Given the description of an element on the screen output the (x, y) to click on. 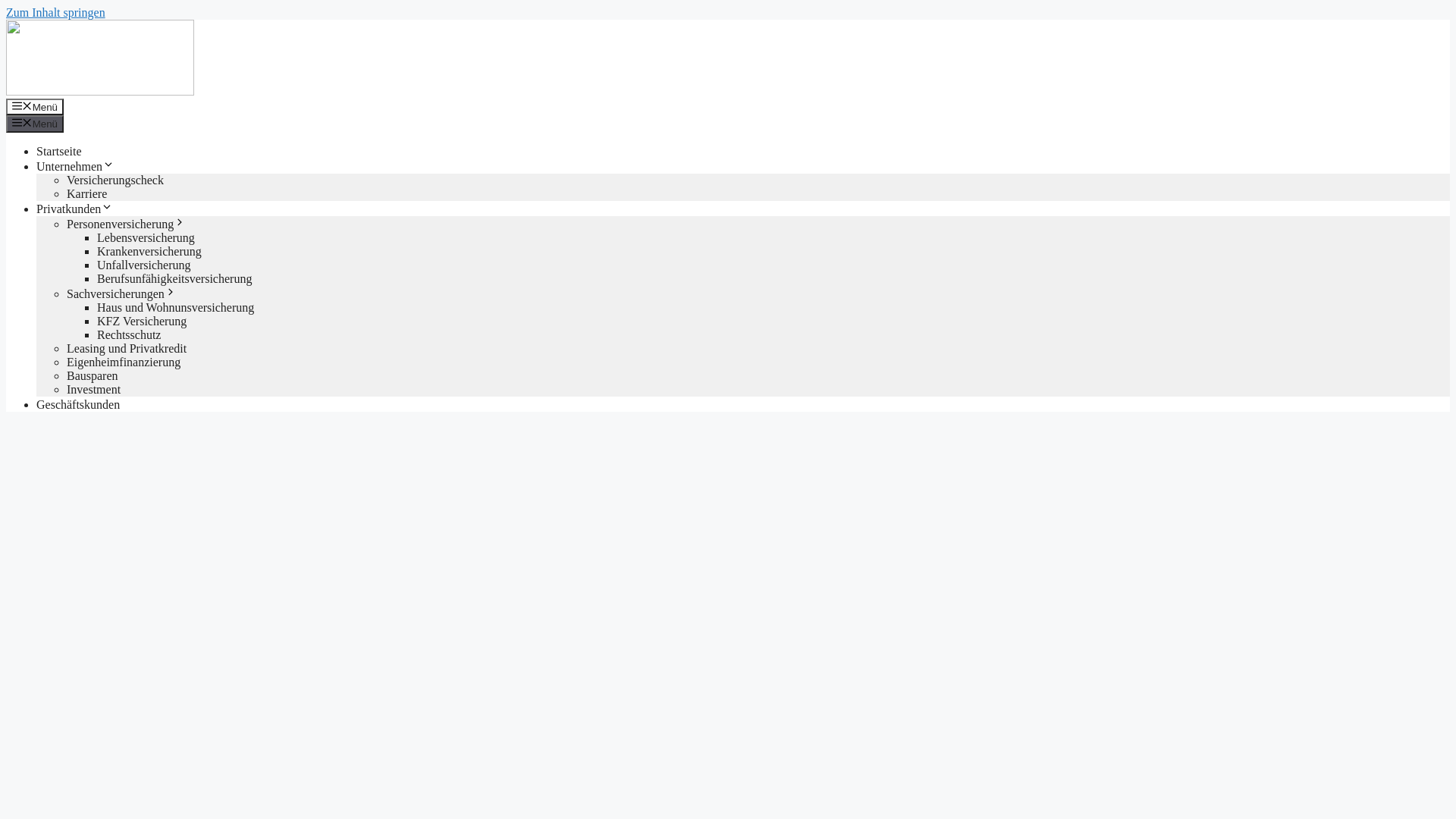
Investment Element type: text (93, 388)
Sachversicherungen Element type: text (121, 293)
Bausparen Element type: text (92, 375)
Karriere Element type: text (86, 193)
Haus und Wohnunsversicherung Element type: text (175, 307)
Privatkunden Element type: text (74, 208)
Unfallversicherung Element type: text (144, 264)
Startseite Element type: text (58, 150)
Personenversicherung Element type: text (125, 223)
Krankenversicherung Element type: text (149, 250)
Leasing und Privatkredit Element type: text (126, 348)
Eigenheimfinanzierung Element type: text (123, 361)
Zum Inhalt springen Element type: text (55, 12)
Versicherungscheck Element type: text (114, 179)
Rechtsschutz Element type: text (128, 334)
Unternehmen Element type: text (75, 166)
KFZ Versicherung Element type: text (141, 320)
Lebensversicherung Element type: text (145, 237)
